Given the description of an element on the screen output the (x, y) to click on. 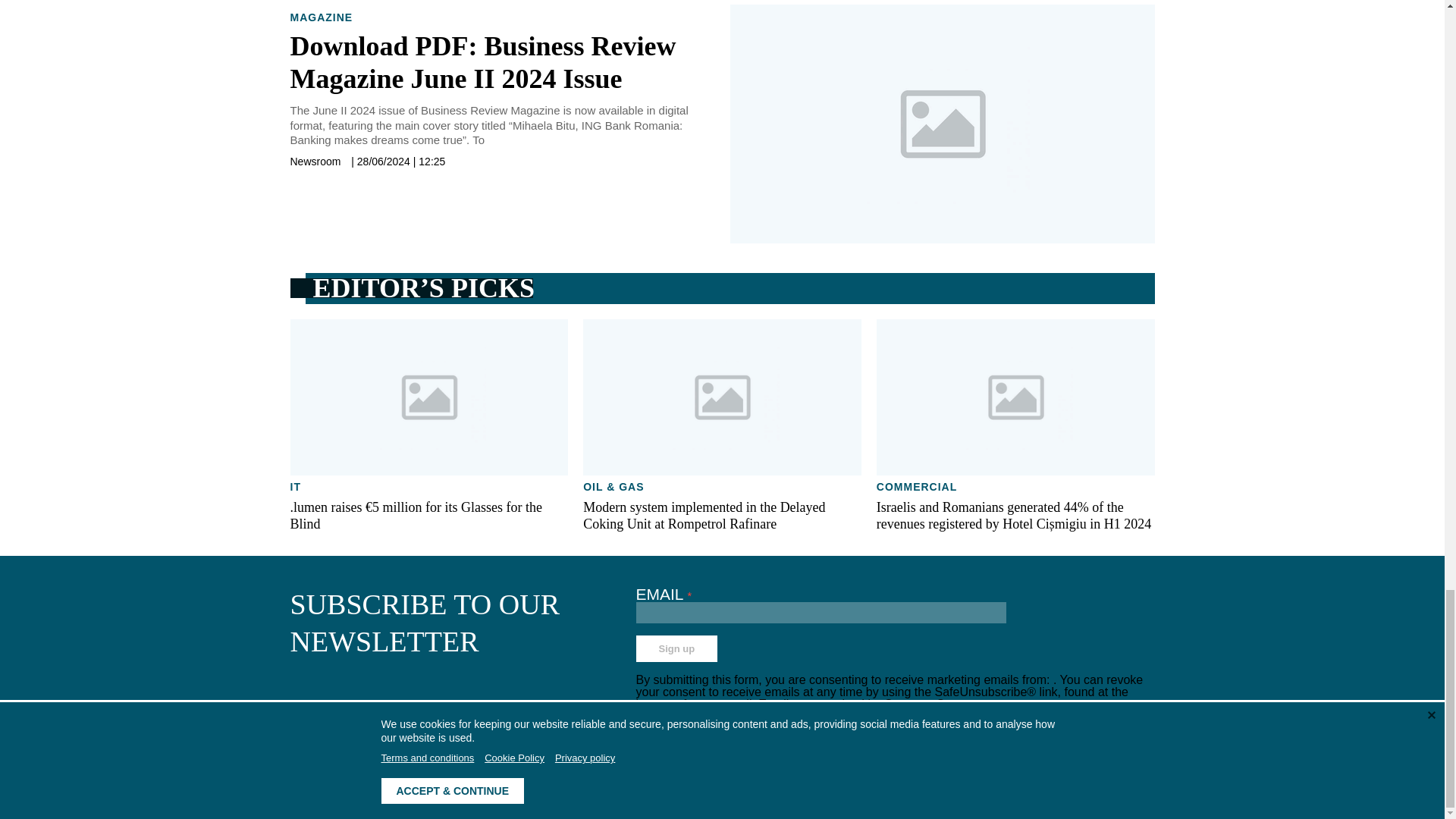
Sign up (675, 648)
